Given the description of an element on the screen output the (x, y) to click on. 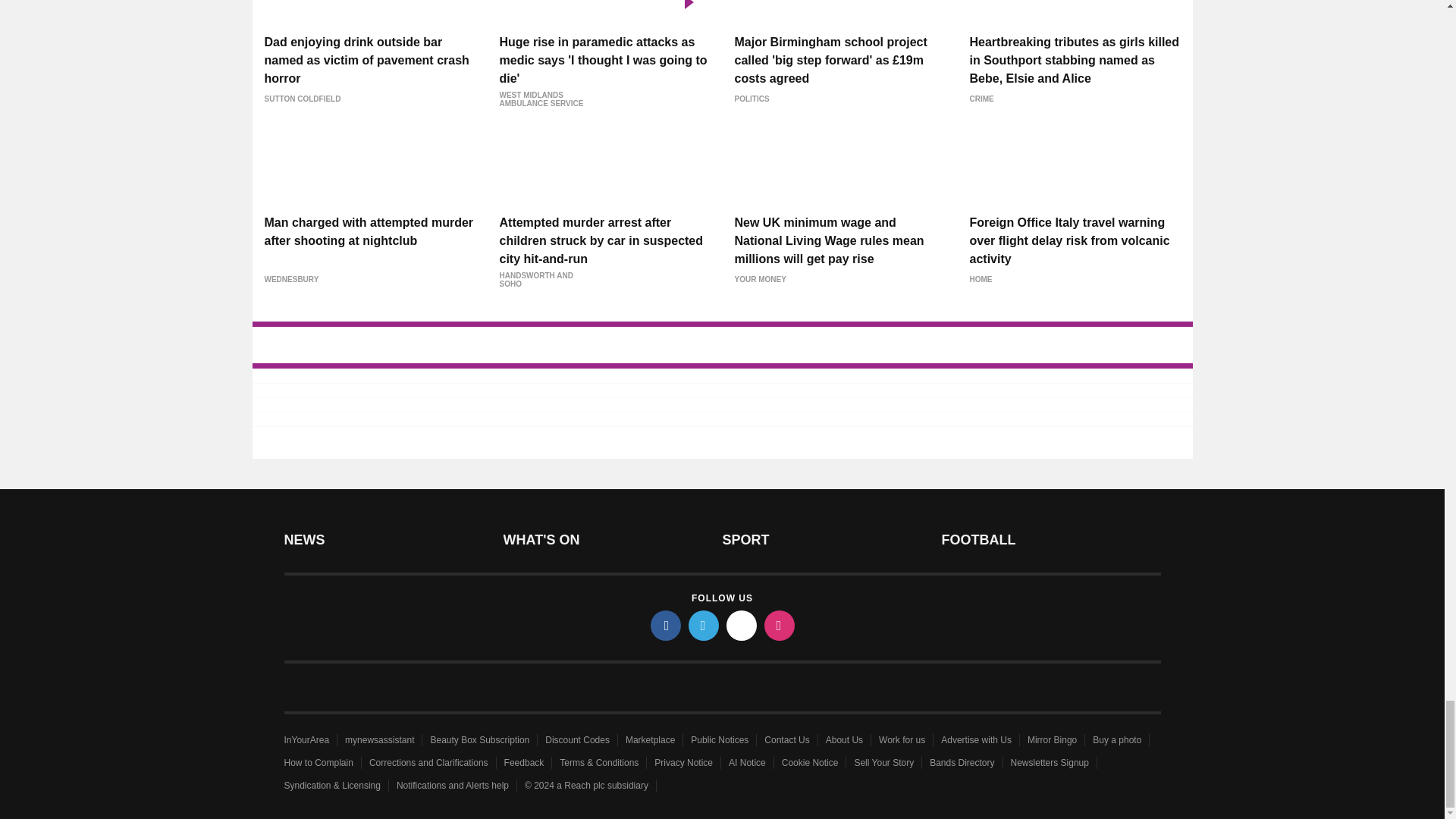
twitter (703, 625)
tiktok (741, 625)
facebook (665, 625)
instagram (779, 625)
